Given the description of an element on the screen output the (x, y) to click on. 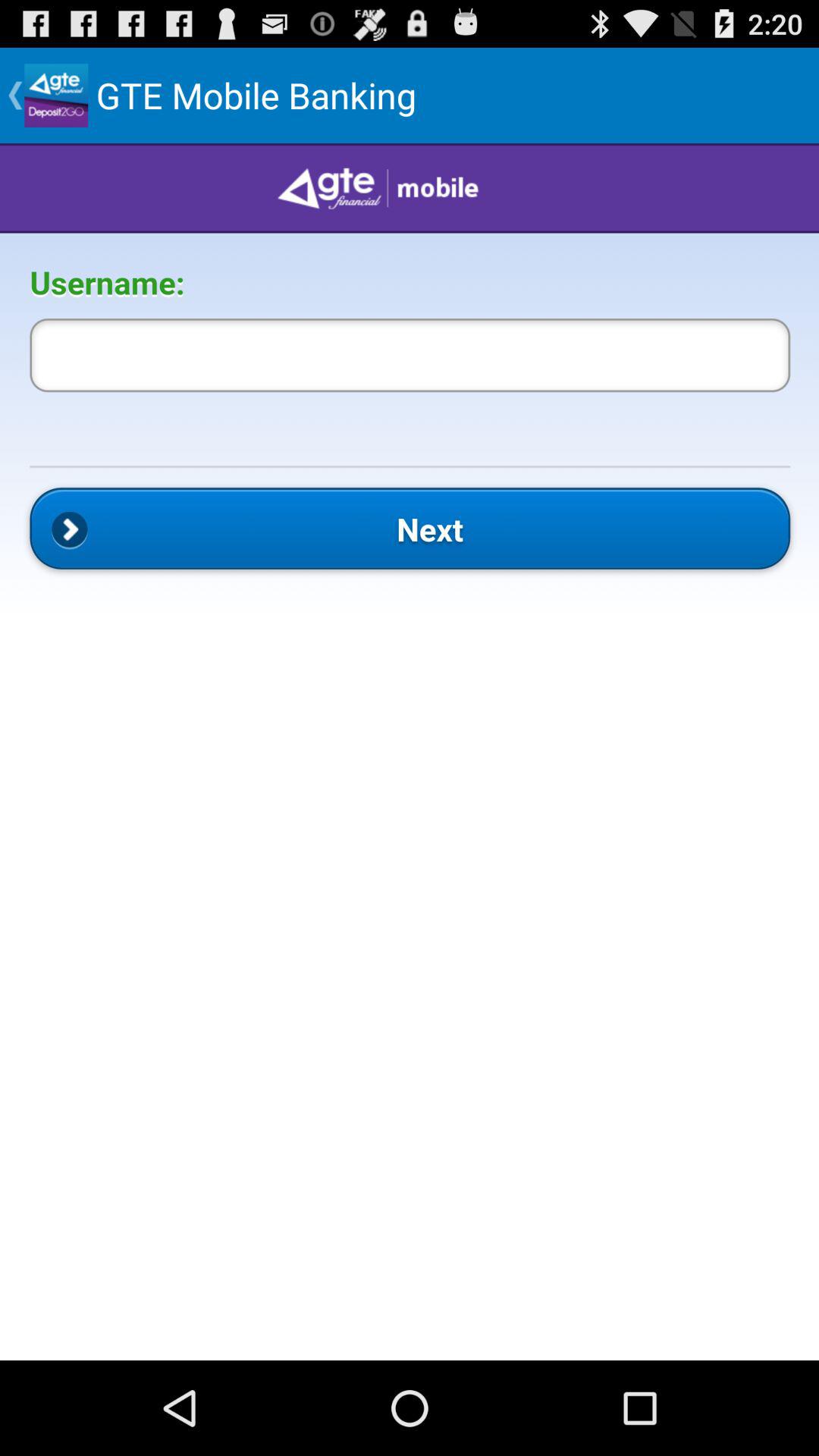
mobile banking insert username go to the next page (409, 751)
